Given the description of an element on the screen output the (x, y) to click on. 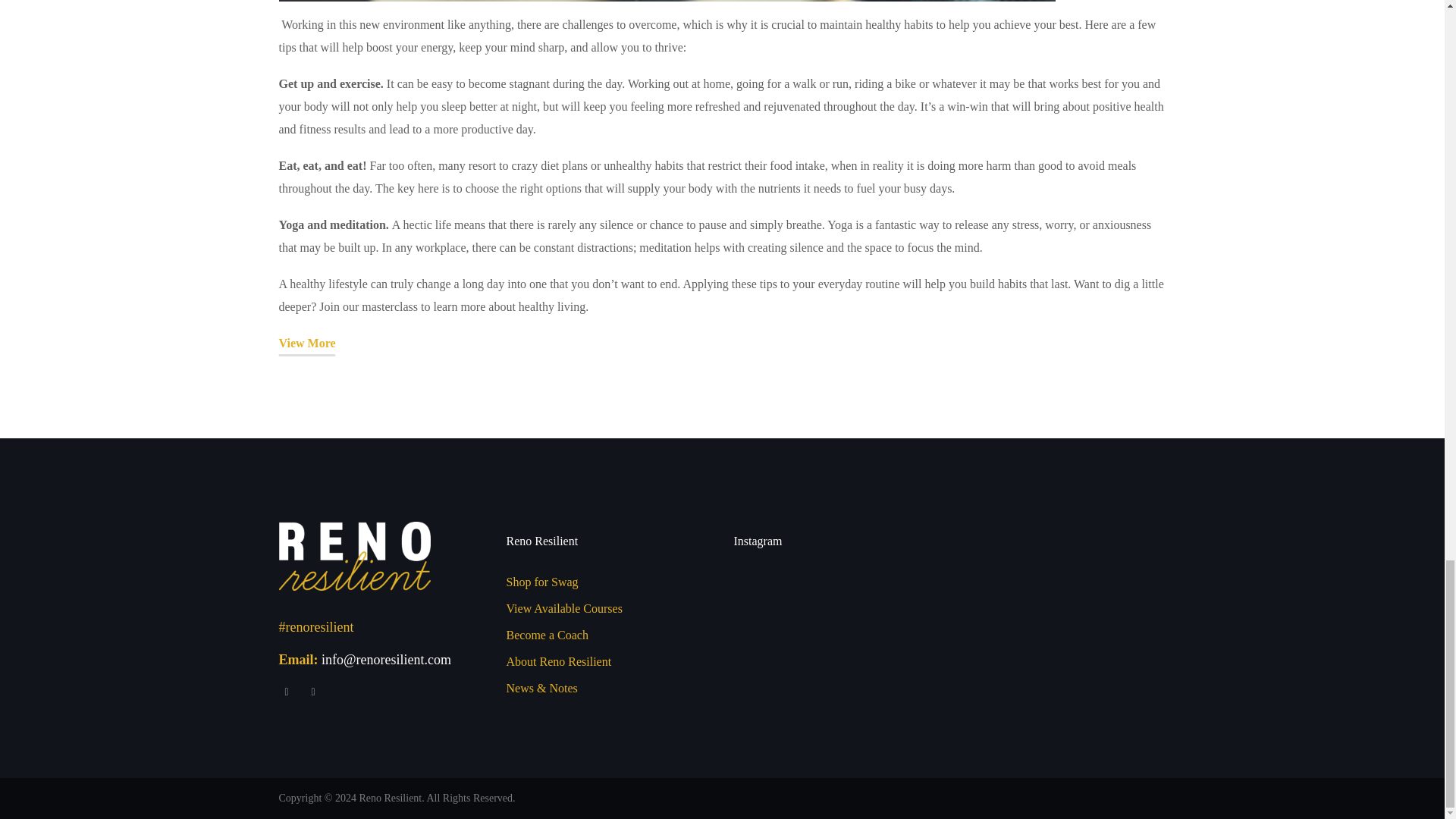
Facebook (286, 691)
Instagram (312, 691)
